Given the description of an element on the screen output the (x, y) to click on. 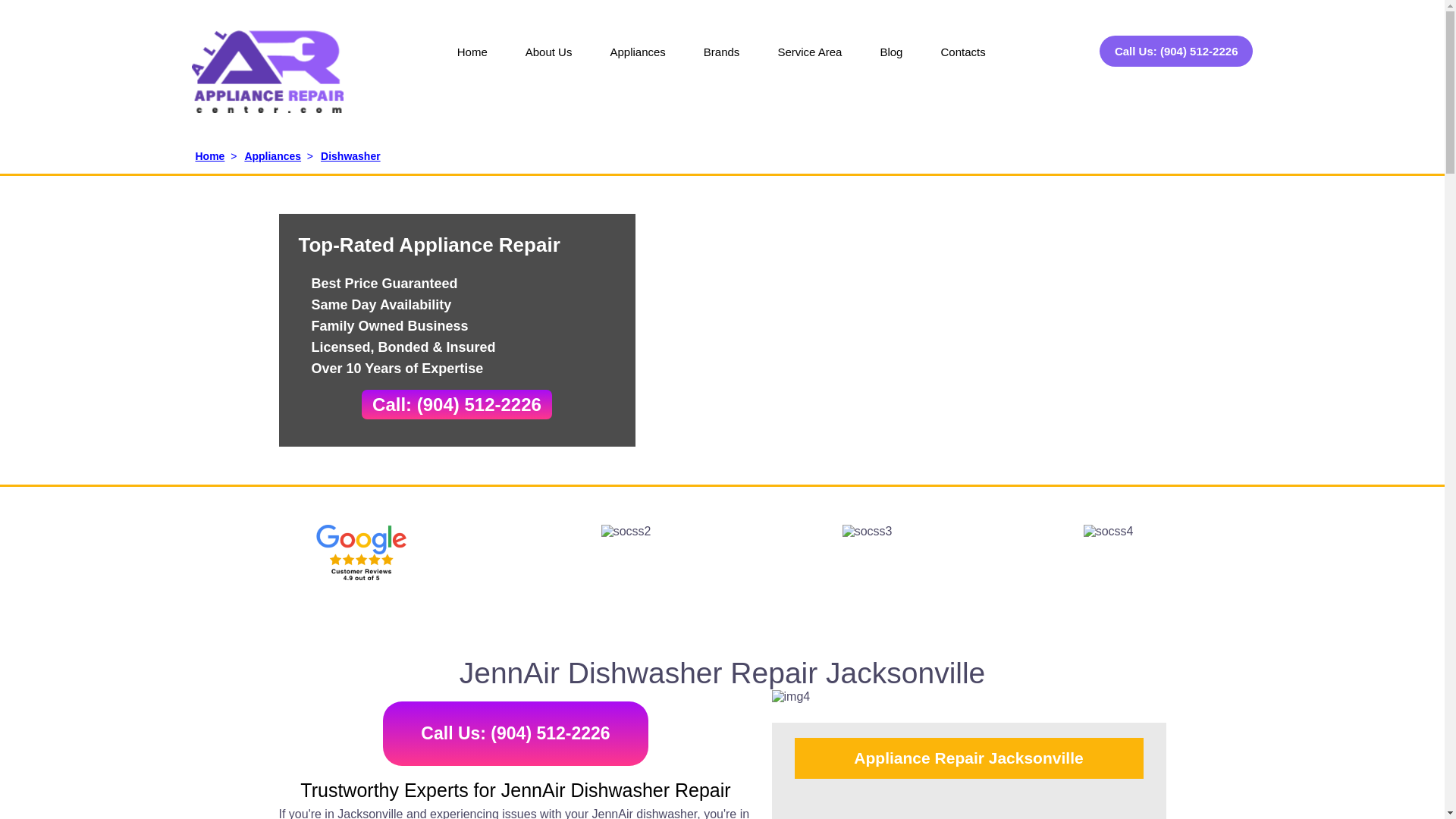
About Us (548, 62)
Appliances (637, 62)
Home (472, 62)
Brands (721, 62)
